Given the description of an element on the screen output the (x, y) to click on. 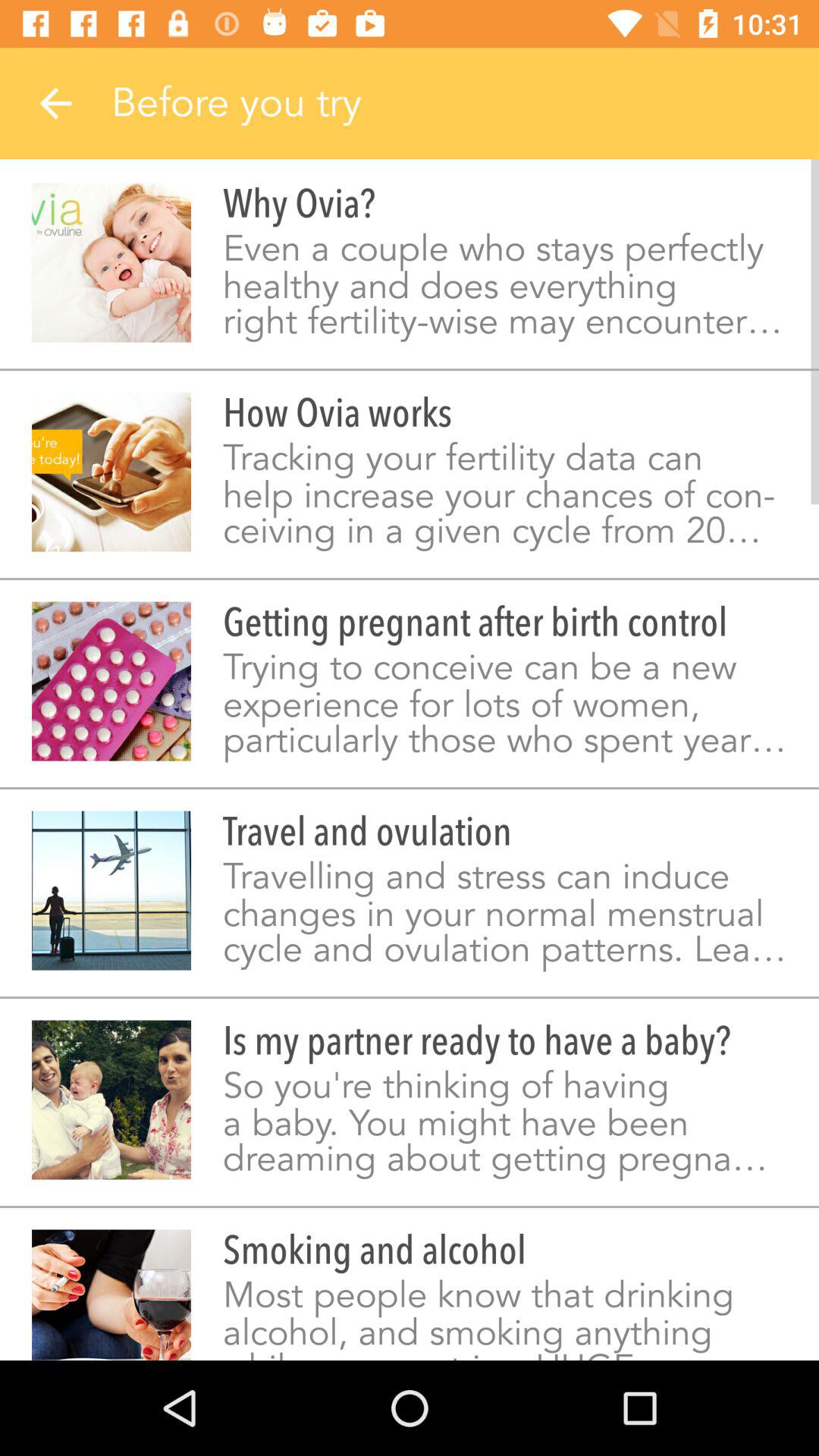
click on the text beside the back button (465, 103)
select the last image (110, 1294)
